Given the description of an element on the screen output the (x, y) to click on. 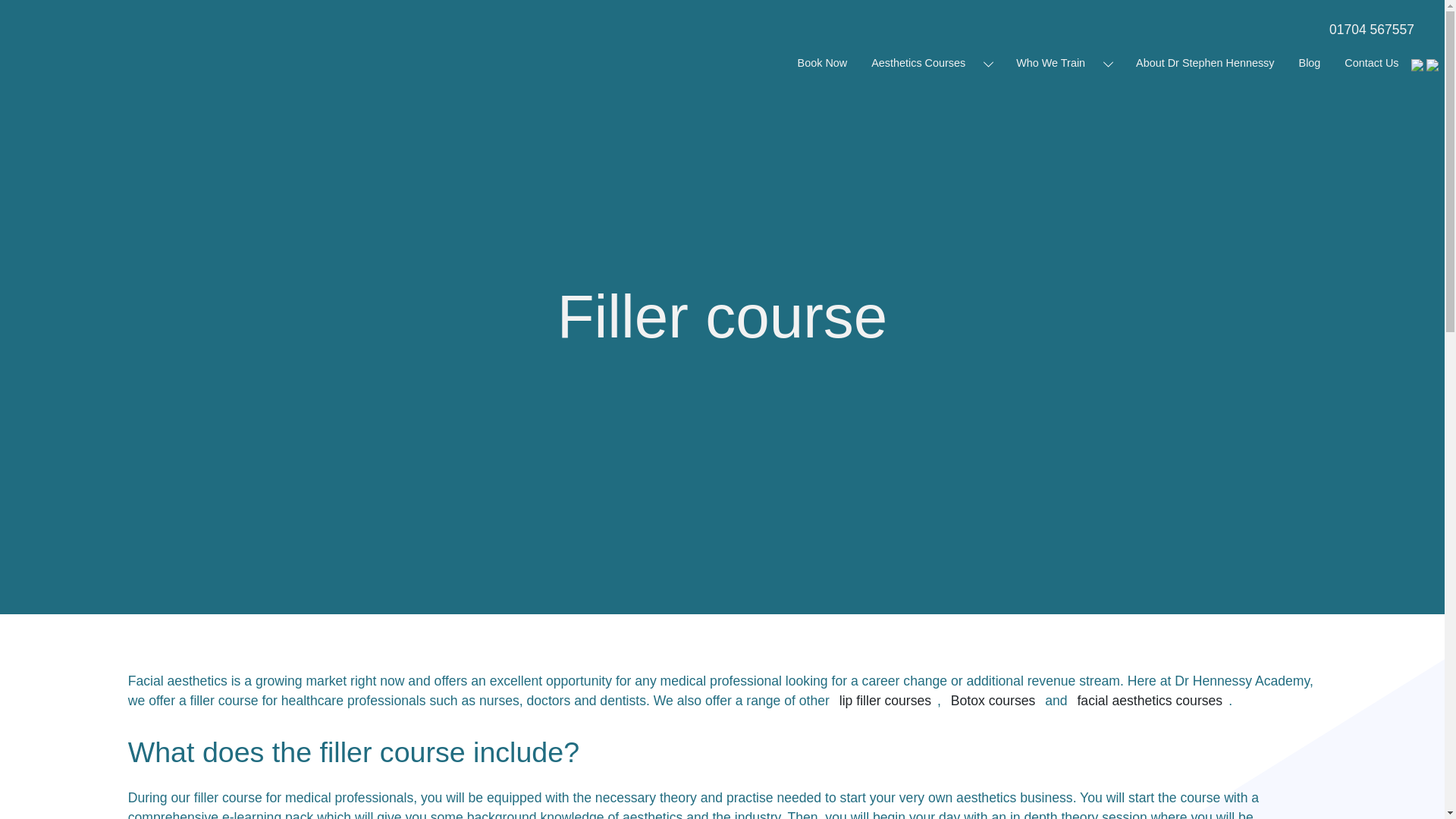
Filler course (721, 316)
Who We Train (1050, 62)
Aesthetics Courses (917, 62)
My Account (1418, 63)
Contact Us (1370, 62)
Blog (1309, 62)
My Basket (1432, 63)
About Dr Stephen Hennessy (1204, 62)
Book Now (822, 62)
01704 567557 (1362, 29)
